Given the description of an element on the screen output the (x, y) to click on. 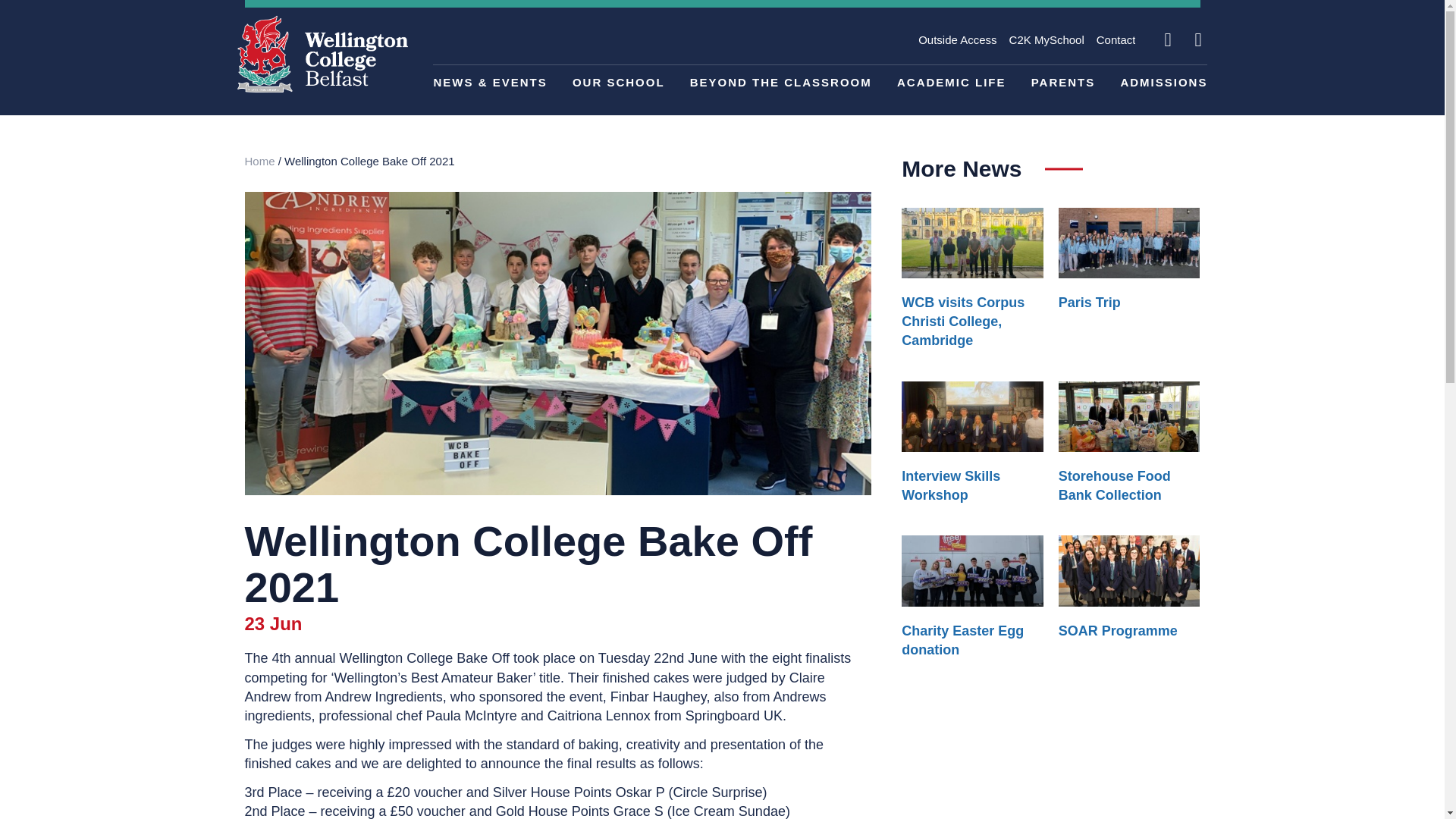
WCB visits Corpus Christi College, Cambridge (963, 321)
PARENTS (1063, 82)
Interview Skills Workshop (950, 485)
BEYOND THE CLASSROOM (781, 82)
C2K MySchool (1046, 39)
Paris Trip (1089, 302)
ACADEMIC LIFE (951, 82)
ADMISSIONS (1163, 82)
Storehouse Food Bank Collection (1114, 485)
SOAR Programme (1117, 630)
OUR SCHOOL (618, 82)
Contact (1115, 39)
Outside Access (956, 39)
Home (259, 160)
Charity Easter Egg donation (962, 640)
